Given the description of an element on the screen output the (x, y) to click on. 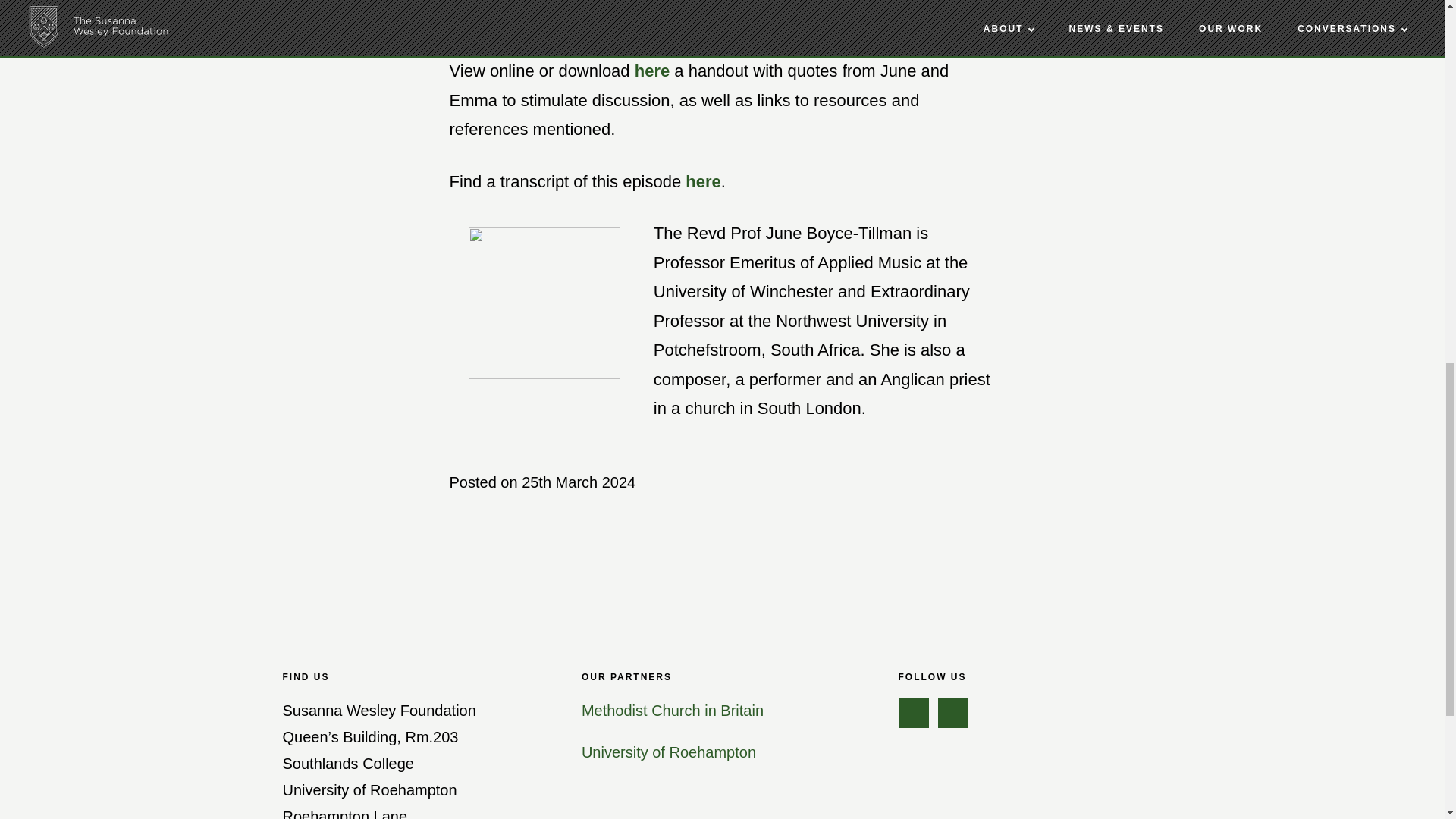
here (702, 180)
here (651, 70)
Methodist Church in Britain (671, 710)
University of Roehampton (667, 751)
